Given the description of an element on the screen output the (x, y) to click on. 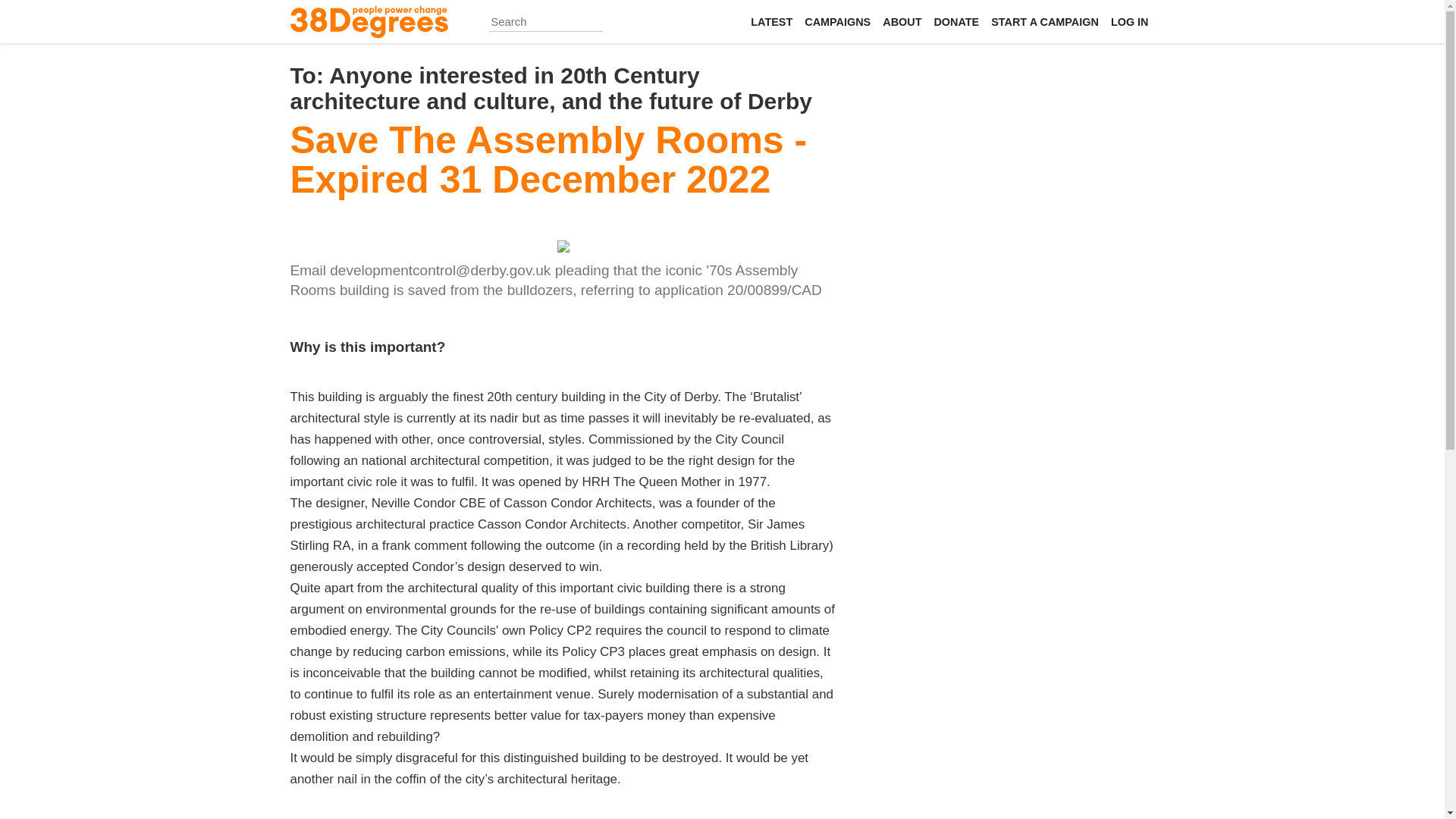
CAMPAIGNS (836, 20)
DONATE (956, 20)
START A CAMPAIGN (1045, 20)
LOG IN (1129, 20)
LATEST (770, 20)
ABOUT (901, 20)
